Given the description of an element on the screen output the (x, y) to click on. 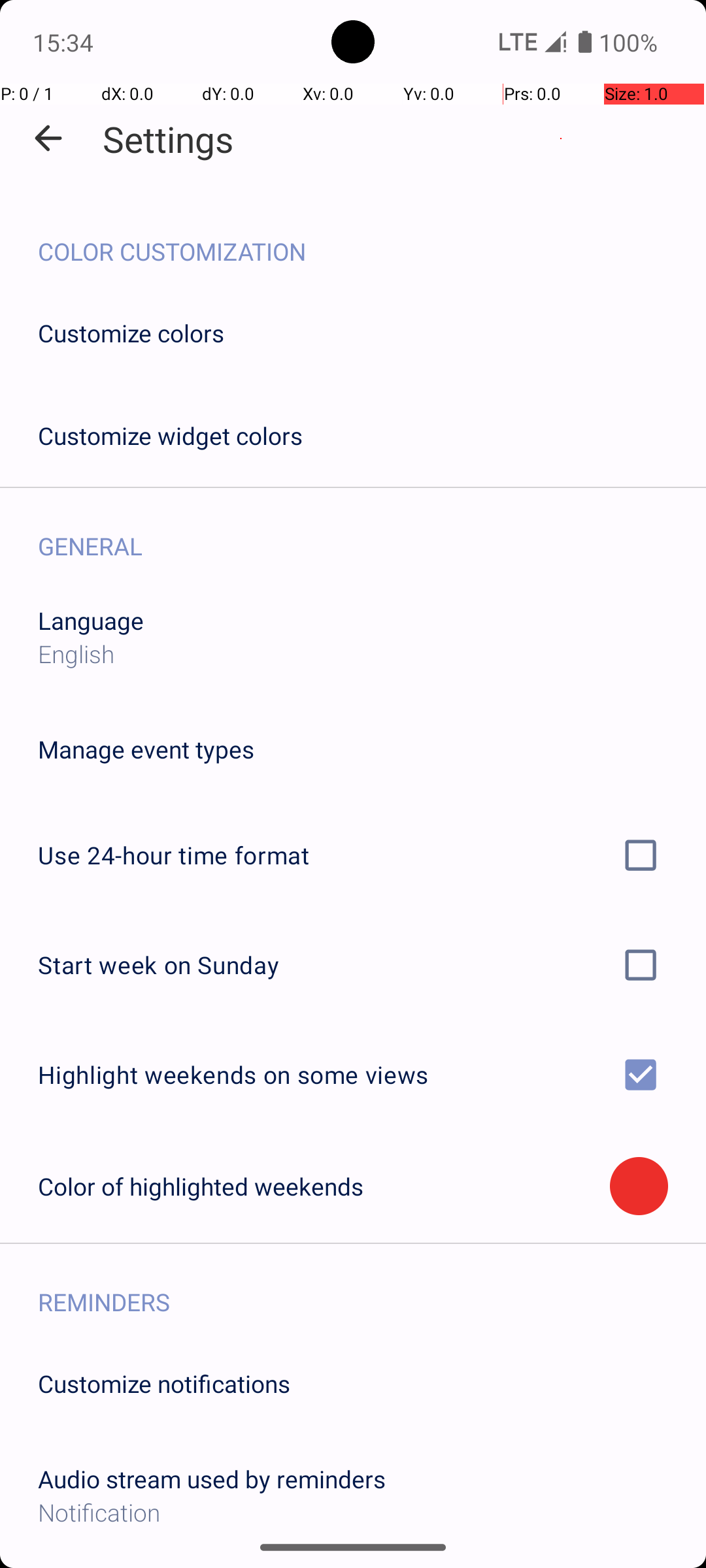
Color of highlighted weekends Element type: android.widget.TextView (323, 1186)
